Given the description of an element on the screen output the (x, y) to click on. 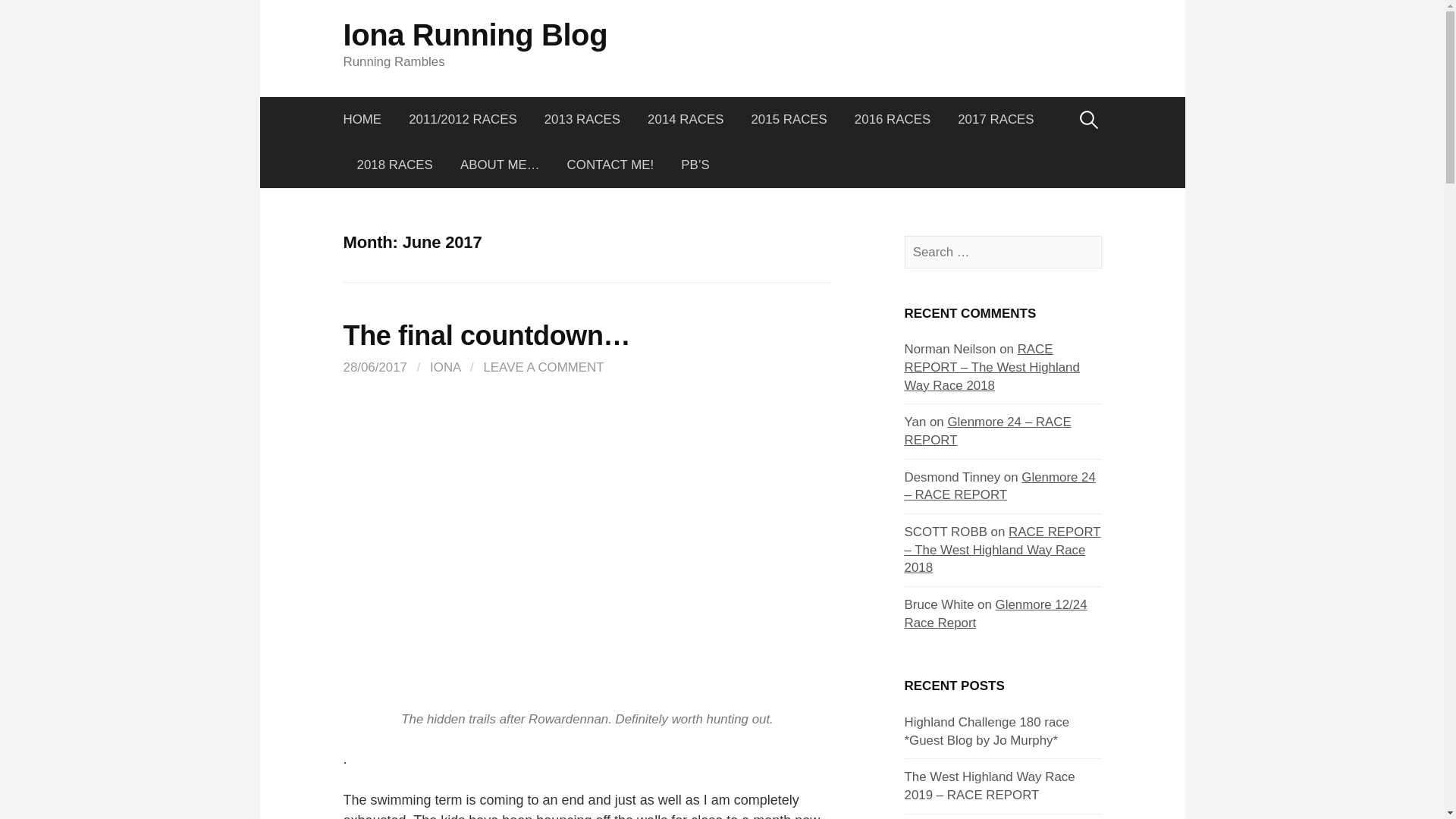
2015 RACES (788, 119)
Iona Running Blog (474, 34)
CONTACT ME! (610, 165)
2017 RACES (994, 119)
Search (16, 16)
LEAVE A COMMENT (543, 367)
2018 RACES (393, 165)
2016 RACES (892, 119)
2013 RACES (582, 119)
